Given the description of an element on the screen output the (x, y) to click on. 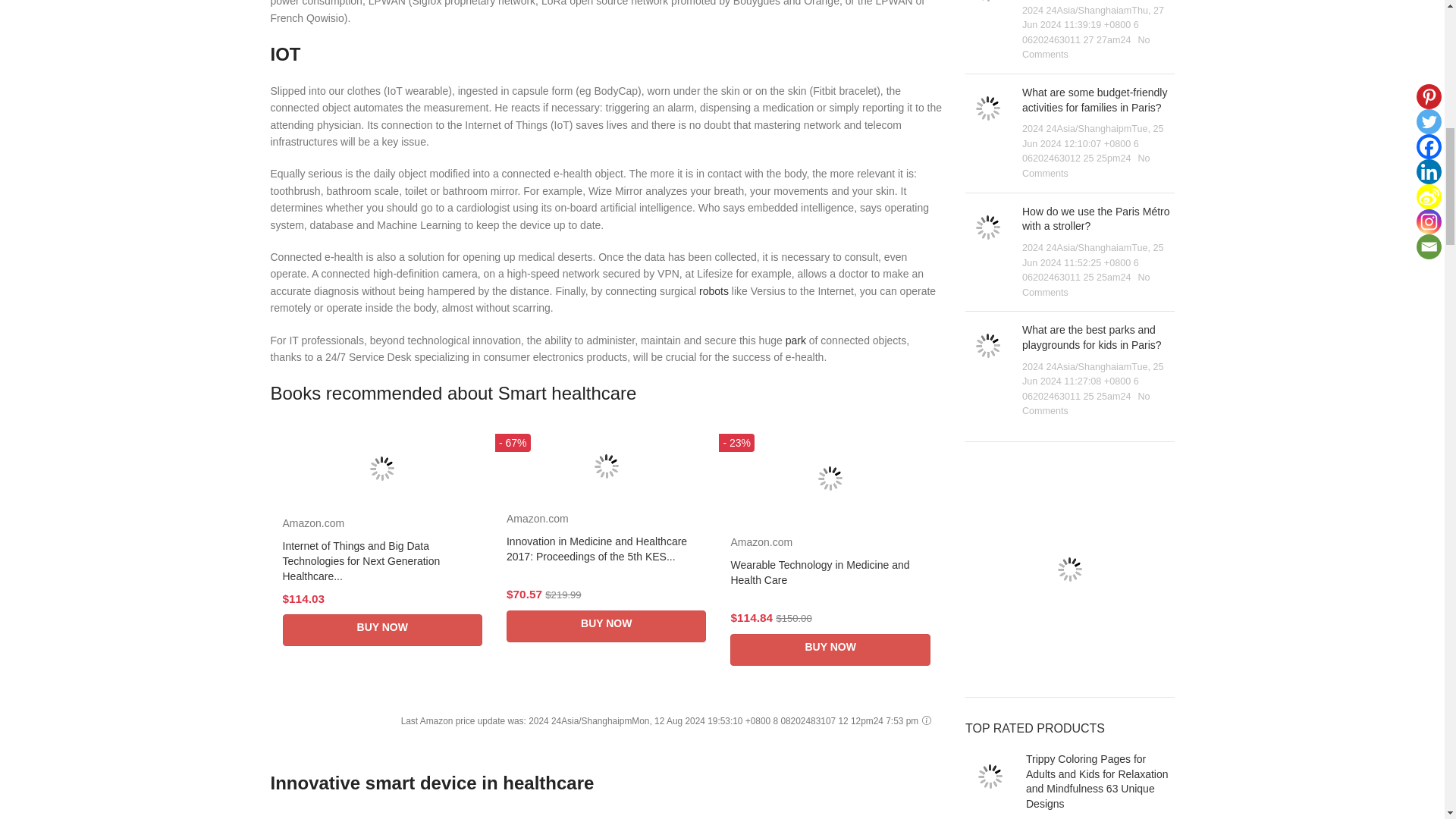
robots (713, 291)
BUY NOW (381, 630)
park (796, 340)
